Given the description of an element on the screen output the (x, y) to click on. 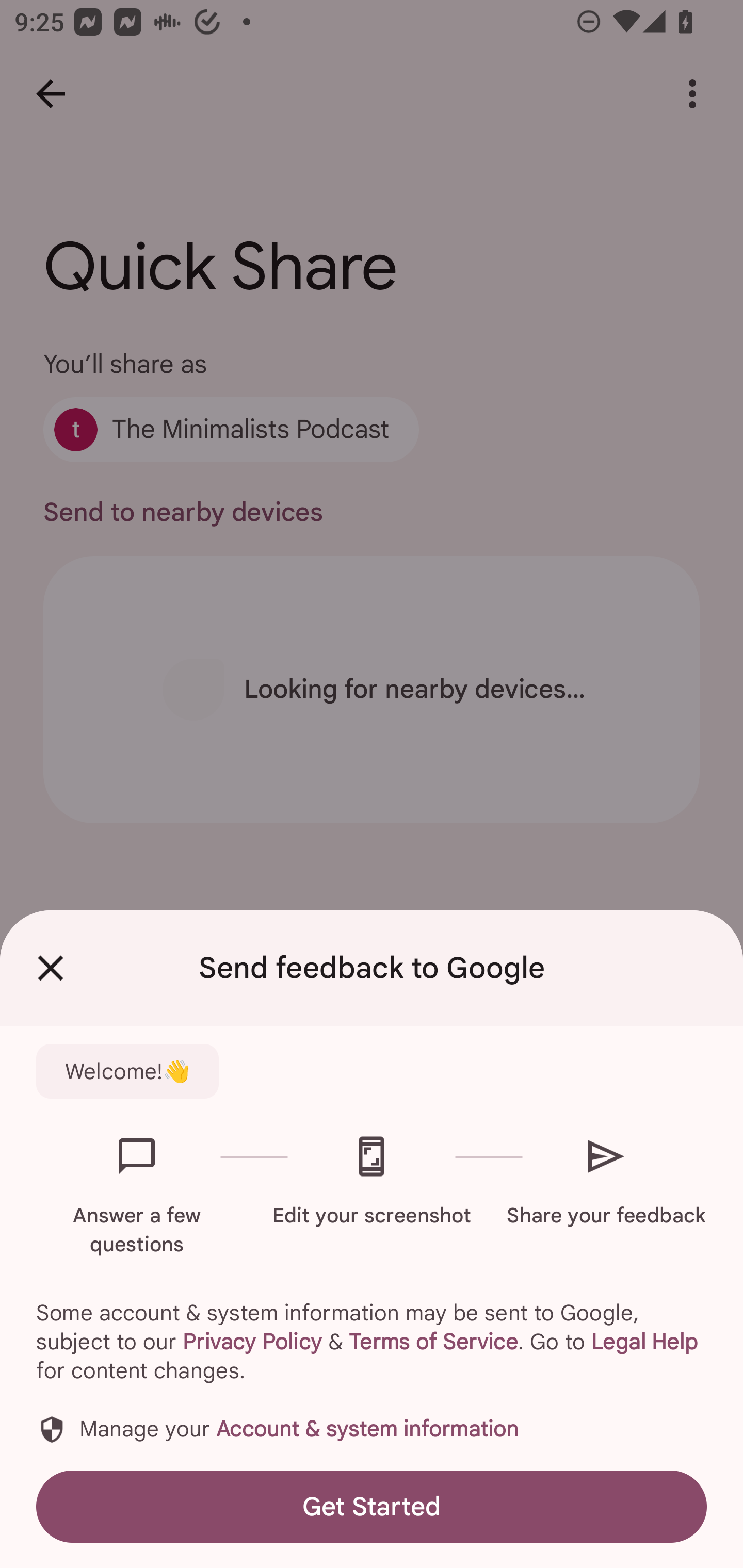
Close Feedback (50, 968)
Get Started (371, 1505)
